Given the description of an element on the screen output the (x, y) to click on. 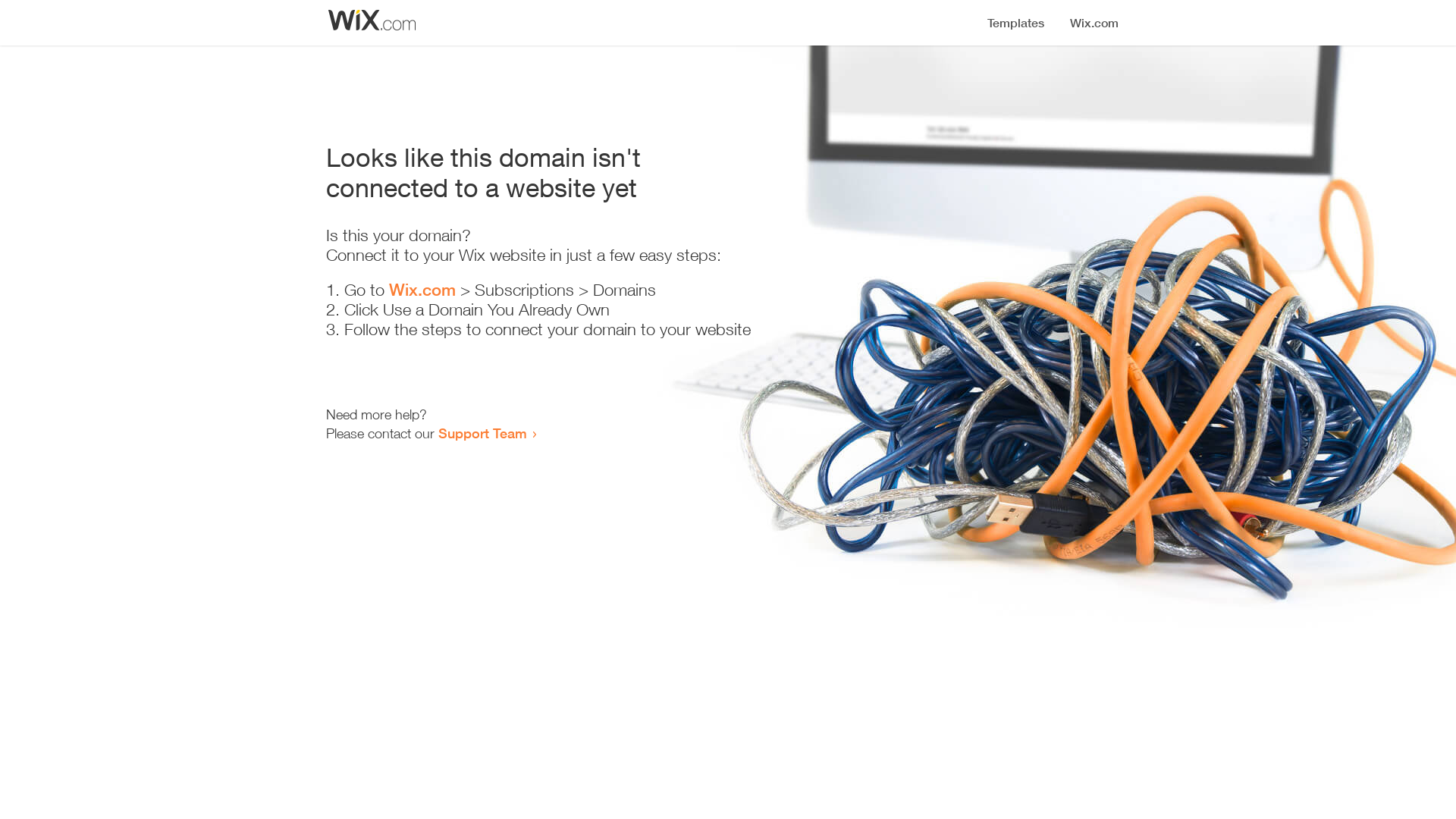
Wix.com Element type: text (422, 289)
Support Team Element type: text (482, 432)
